Given the description of an element on the screen output the (x, y) to click on. 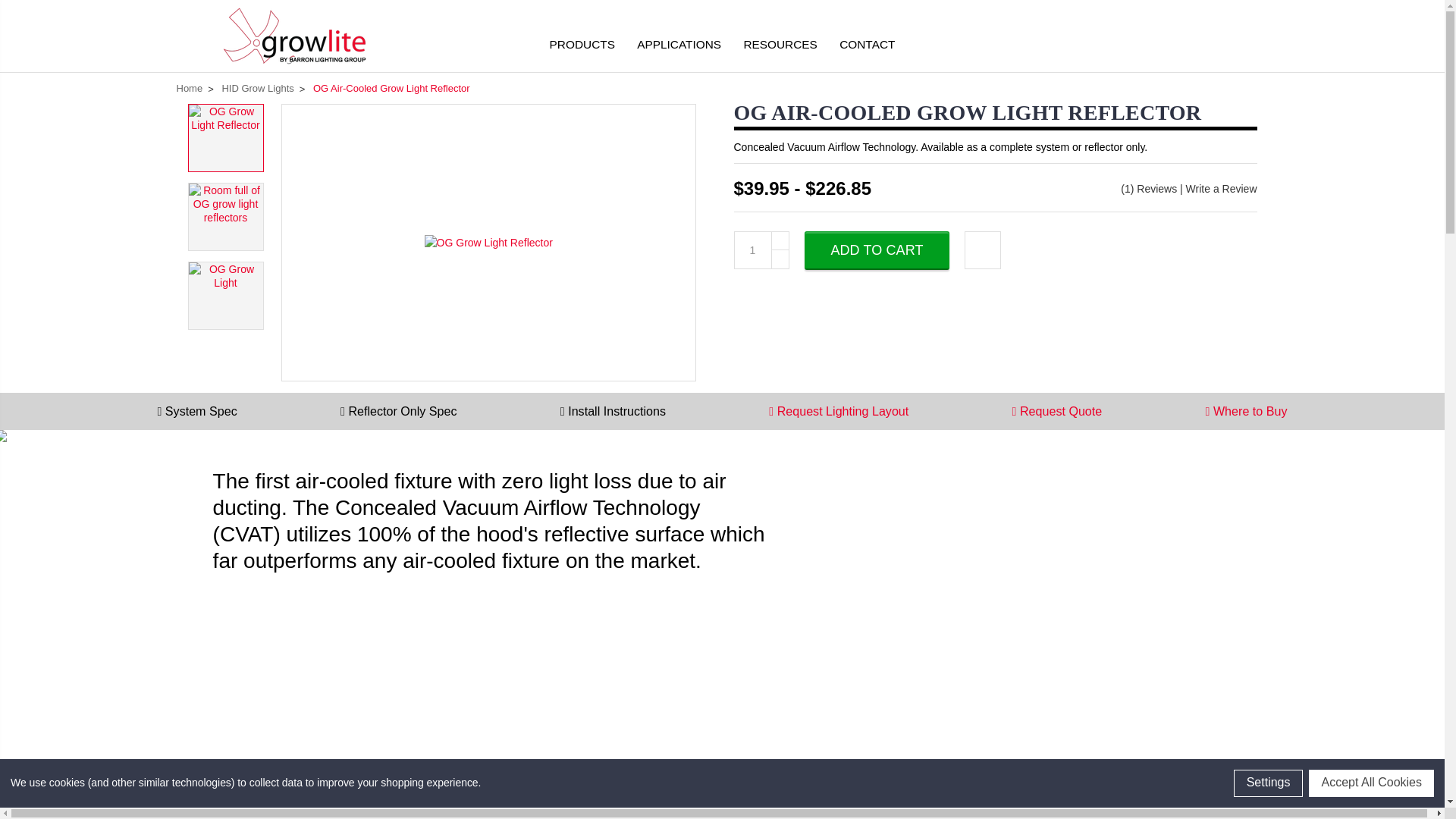
Add to Cart (877, 250)
Growlite (293, 35)
OG Grow Light Reflector (224, 137)
OG Grow Light (224, 295)
OG Grow Light Reflector (489, 242)
Room full of OG grow light reflectors (224, 216)
Add to Wishlist (982, 249)
1 (752, 249)
